Given the description of an element on the screen output the (x, y) to click on. 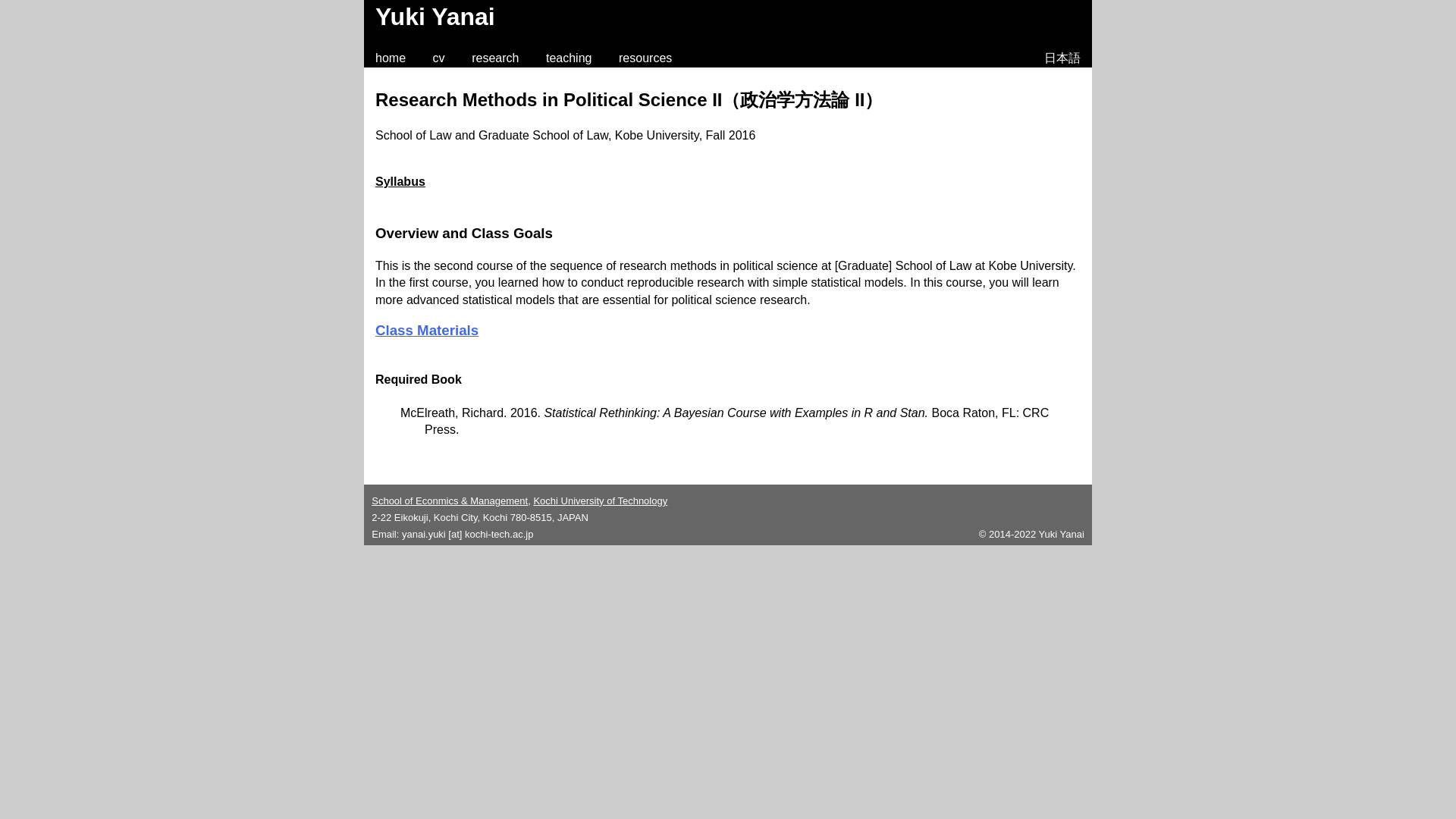
research (494, 57)
Kochi University of Technology (599, 500)
resources (644, 57)
teaching (569, 57)
Class Materials (427, 330)
cv (438, 57)
home (390, 57)
Syllabus (400, 181)
